Given the description of an element on the screen output the (x, y) to click on. 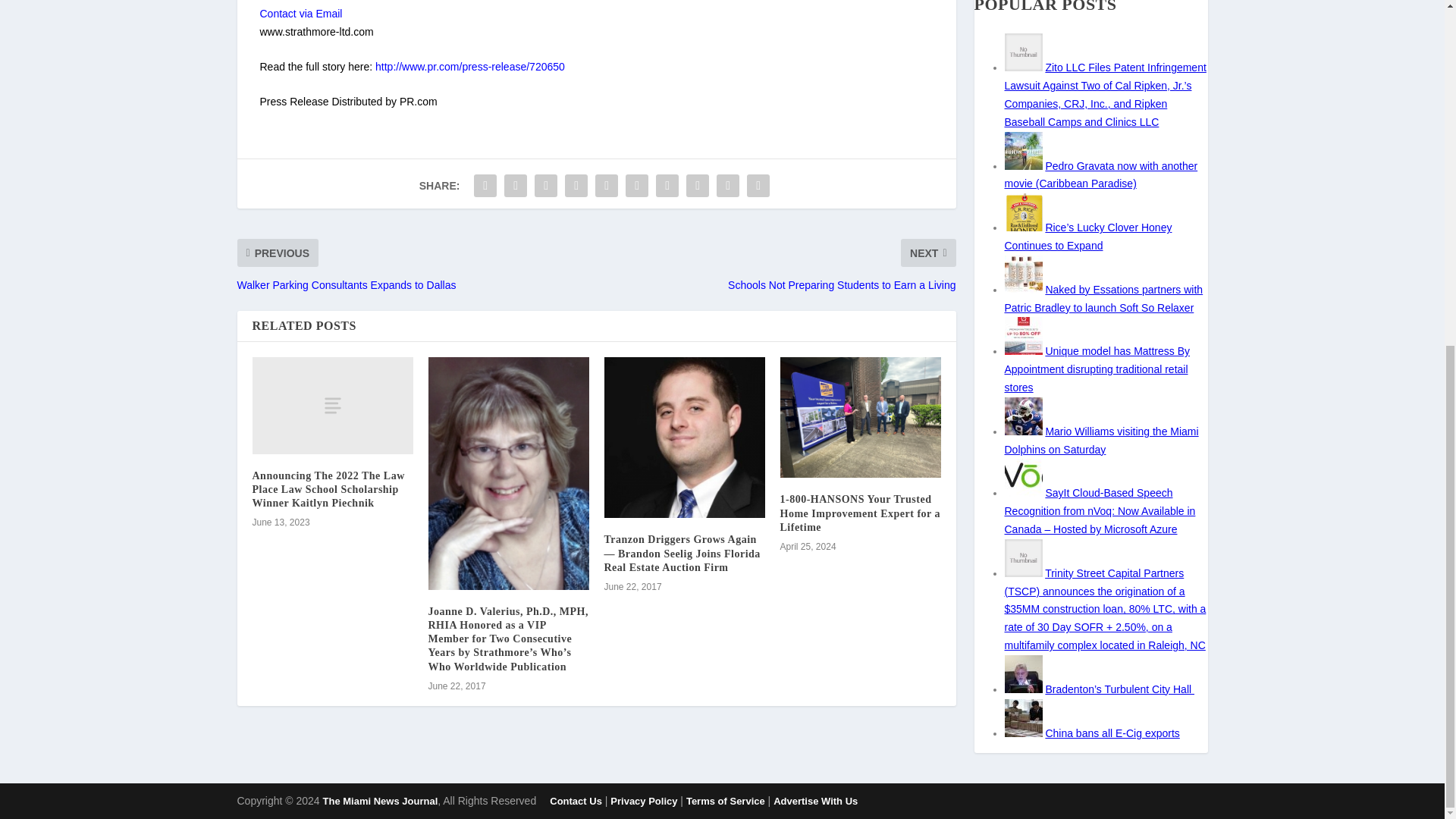
Contact via Email (300, 13)
